Given the description of an element on the screen output the (x, y) to click on. 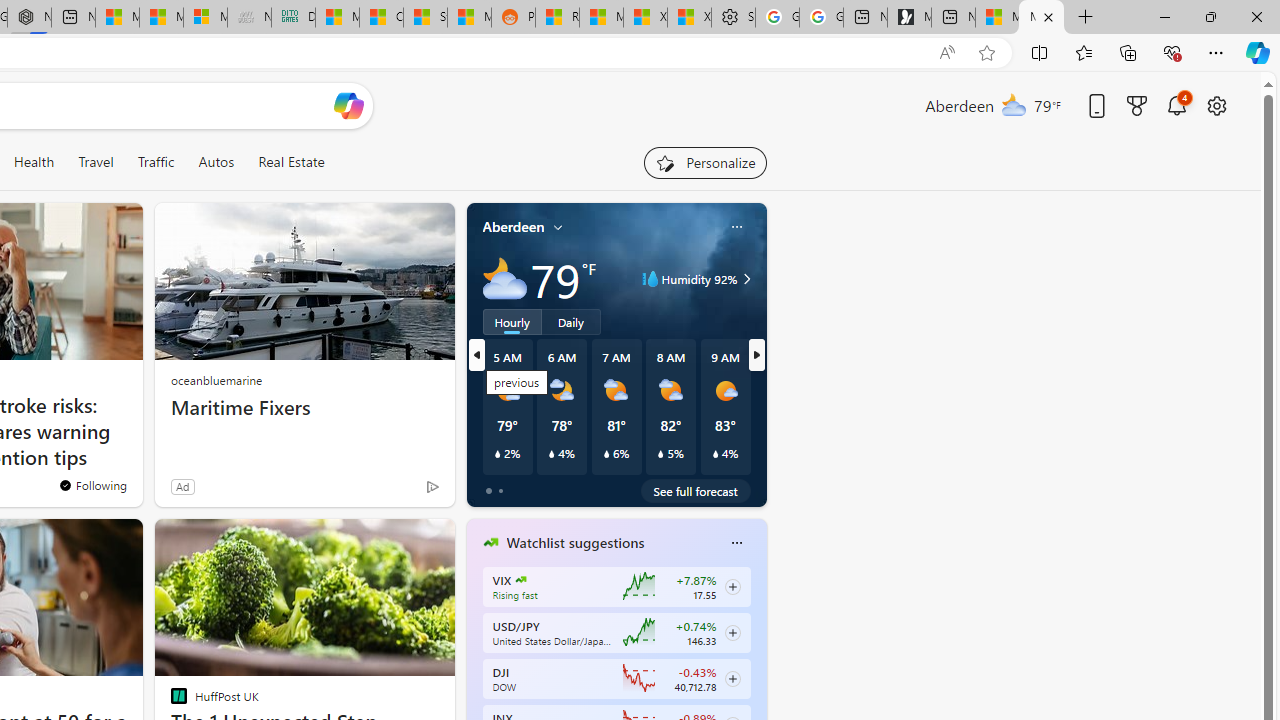
Personalize your feed" (704, 162)
tab-0 (488, 490)
Mostly cloudy (504, 278)
Health (33, 162)
